Given the description of an element on the screen output the (x, y) to click on. 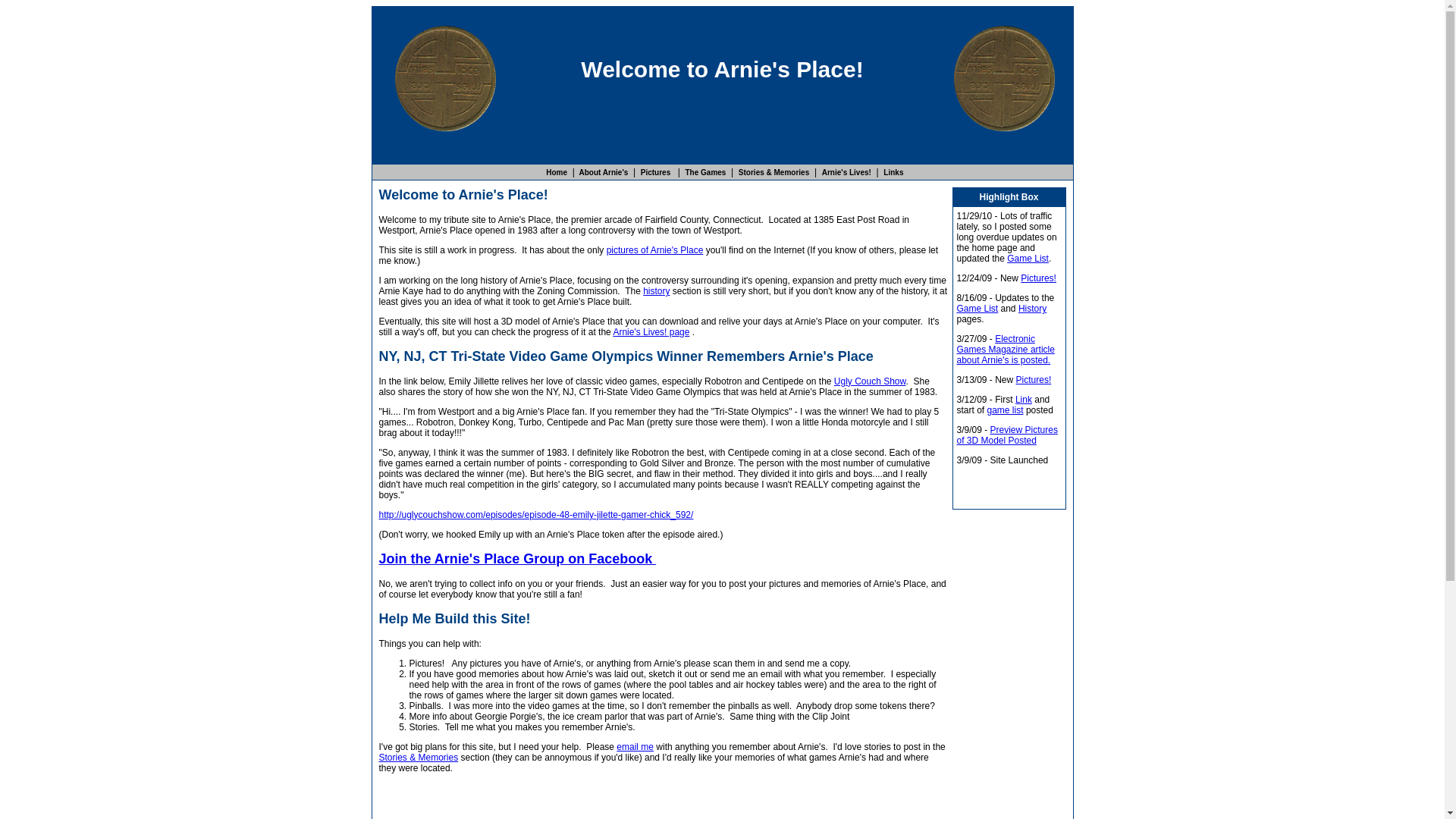
Arnie's Lives! (846, 172)
Pictures! (1038, 277)
About Arnie's (601, 172)
Ugly Couch Show (869, 380)
Link (1023, 398)
email me (634, 747)
History (1031, 308)
Links (892, 172)
Pictures! (1033, 379)
Game List (1027, 258)
